Given the description of an element on the screen output the (x, y) to click on. 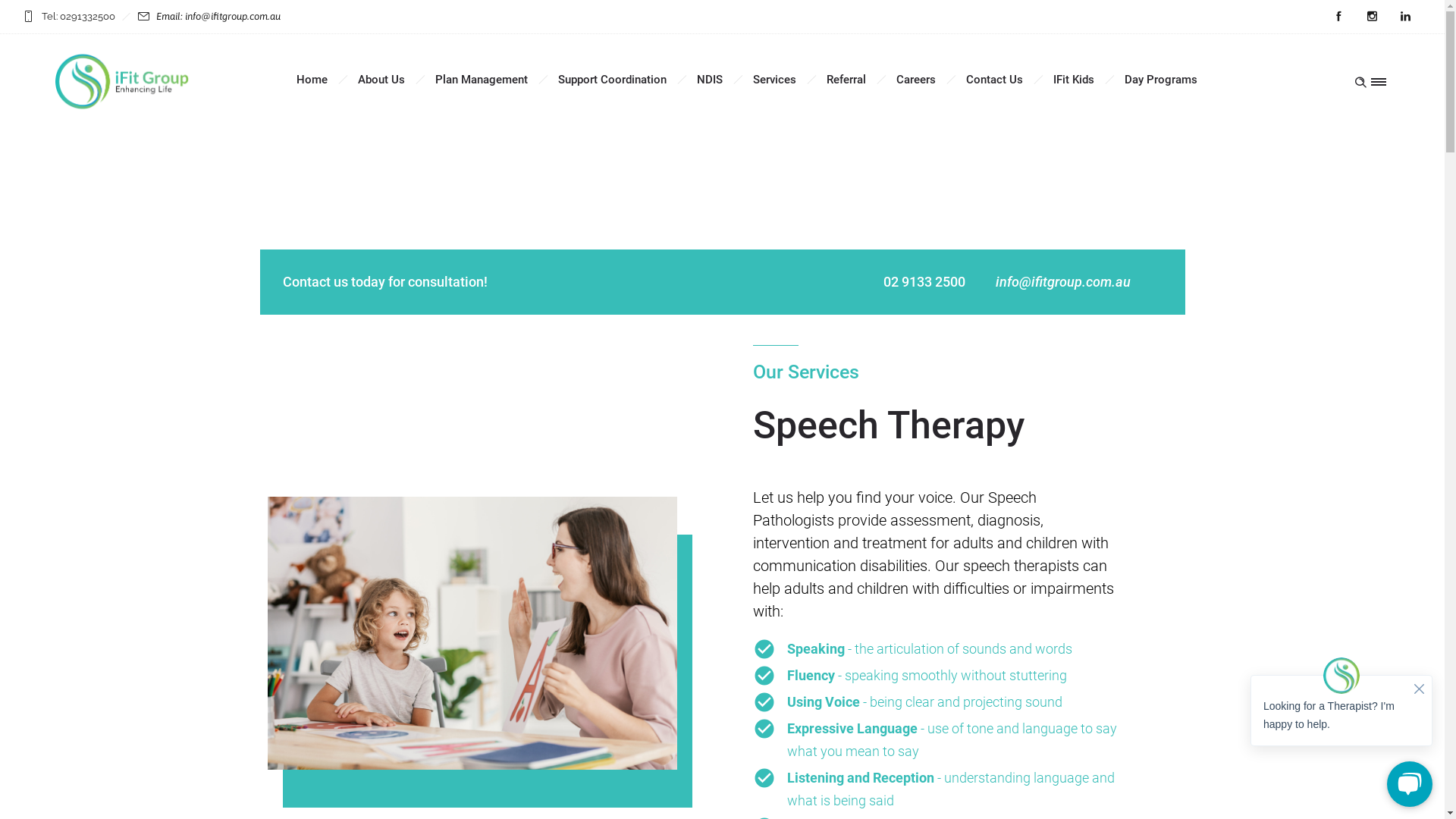
info@ifitgroup.com.au Element type: text (1061, 281)
02 9133 2500 Element type: text (923, 281)
Unknown Element type: hover (121, 81)
Support Coordination Element type: text (611, 79)
About Us Element type: text (381, 79)
NDIS Element type: text (709, 79)
Home Element type: text (311, 79)
Services Element type: text (774, 79)
Referral Element type: text (846, 79)
Email: info@ifitgroup.com.au Element type: text (218, 15)
Contact Us Element type: text (994, 79)
Plan Management Element type: text (481, 79)
IFit Kids Element type: text (1073, 79)
Tel: 0291332500 Element type: text (77, 15)
Day Programs Element type: text (1160, 79)
Careers Element type: text (915, 79)
